Given the description of an element on the screen output the (x, y) to click on. 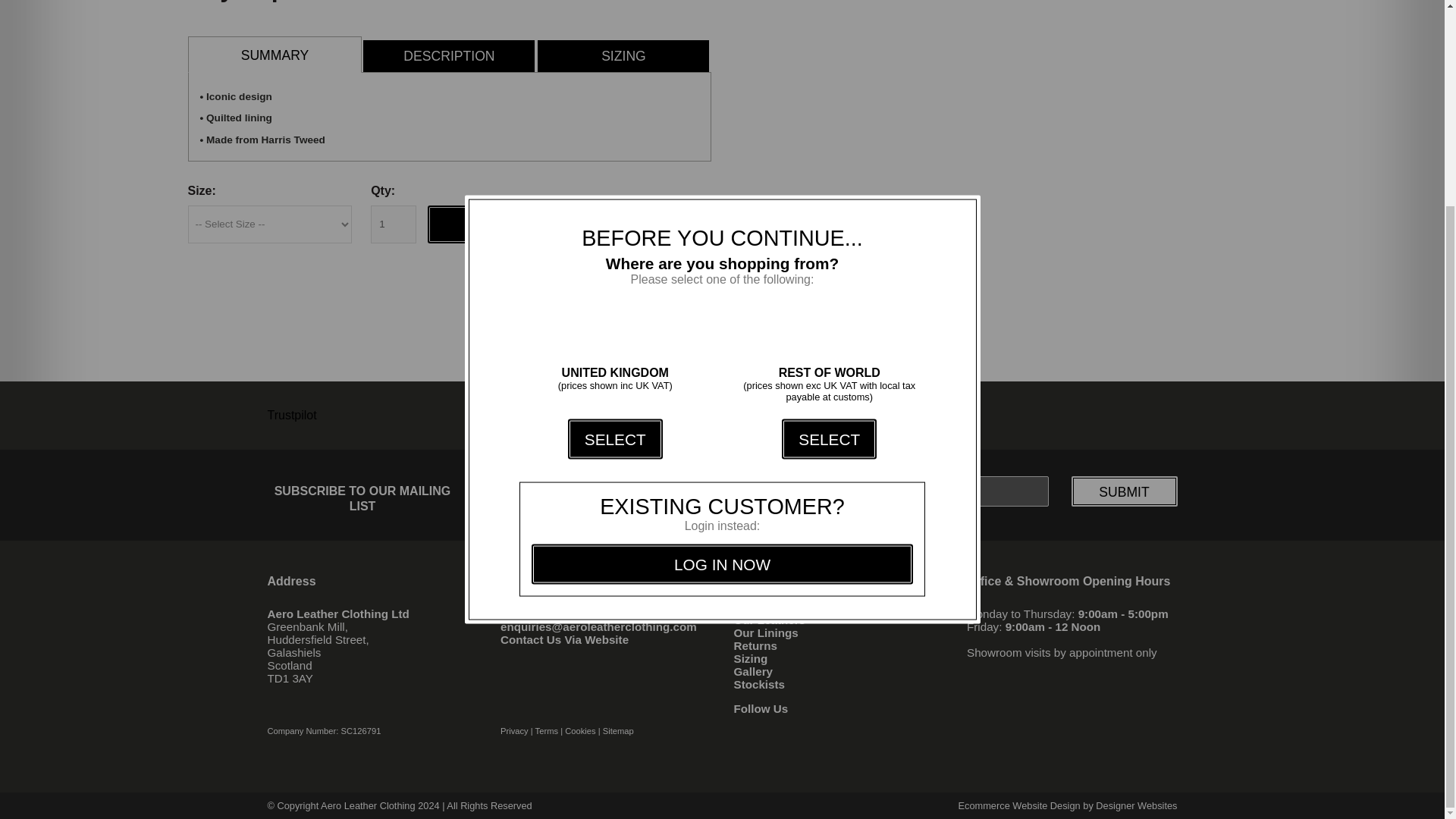
LOG IN NOW (721, 298)
log in now (721, 298)
1 (393, 224)
